Given the description of an element on the screen output the (x, y) to click on. 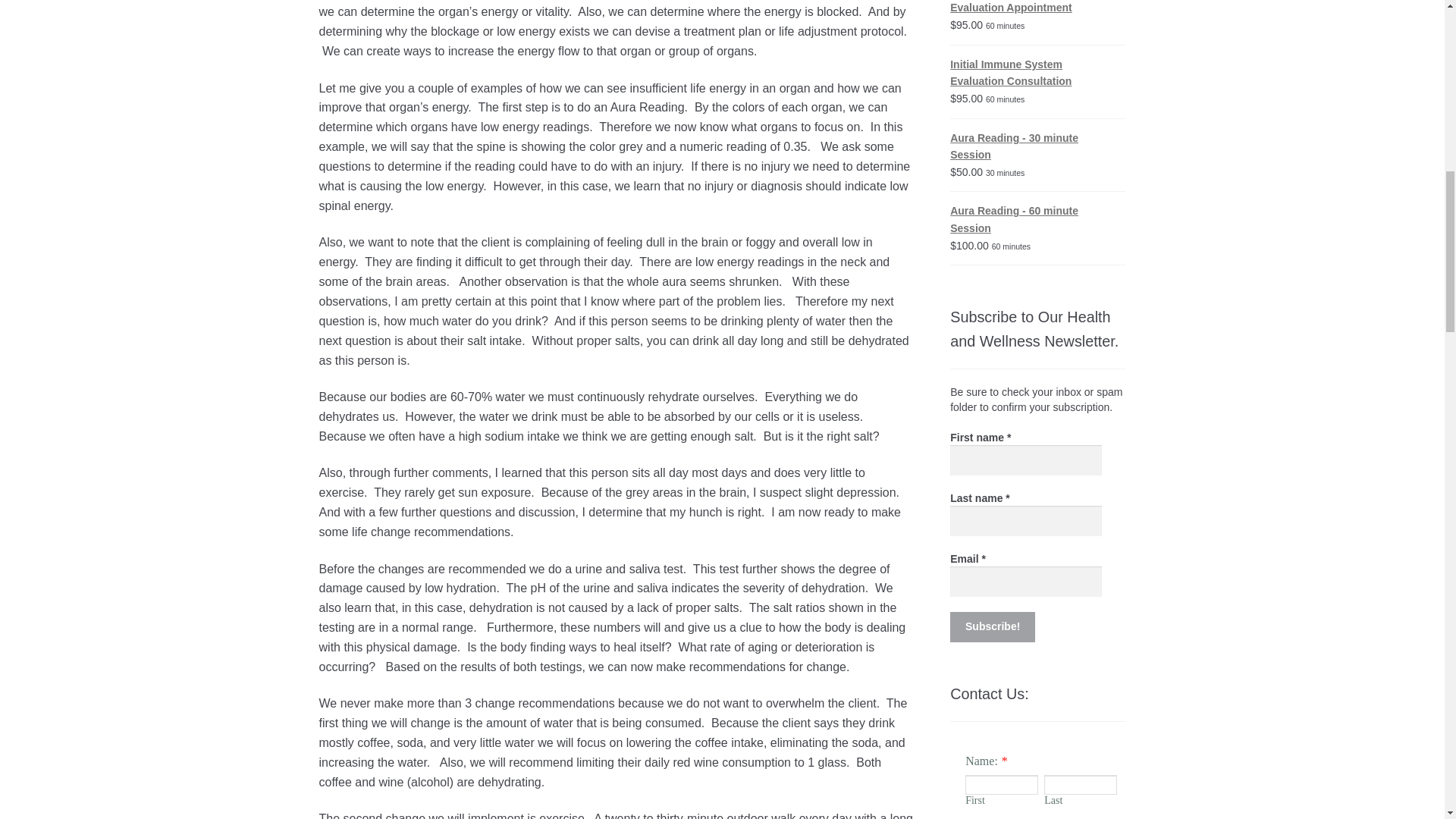
Email (1026, 581)
First name (1026, 460)
Last name (1026, 521)
Subscribe! (992, 626)
